Given the description of an element on the screen output the (x, y) to click on. 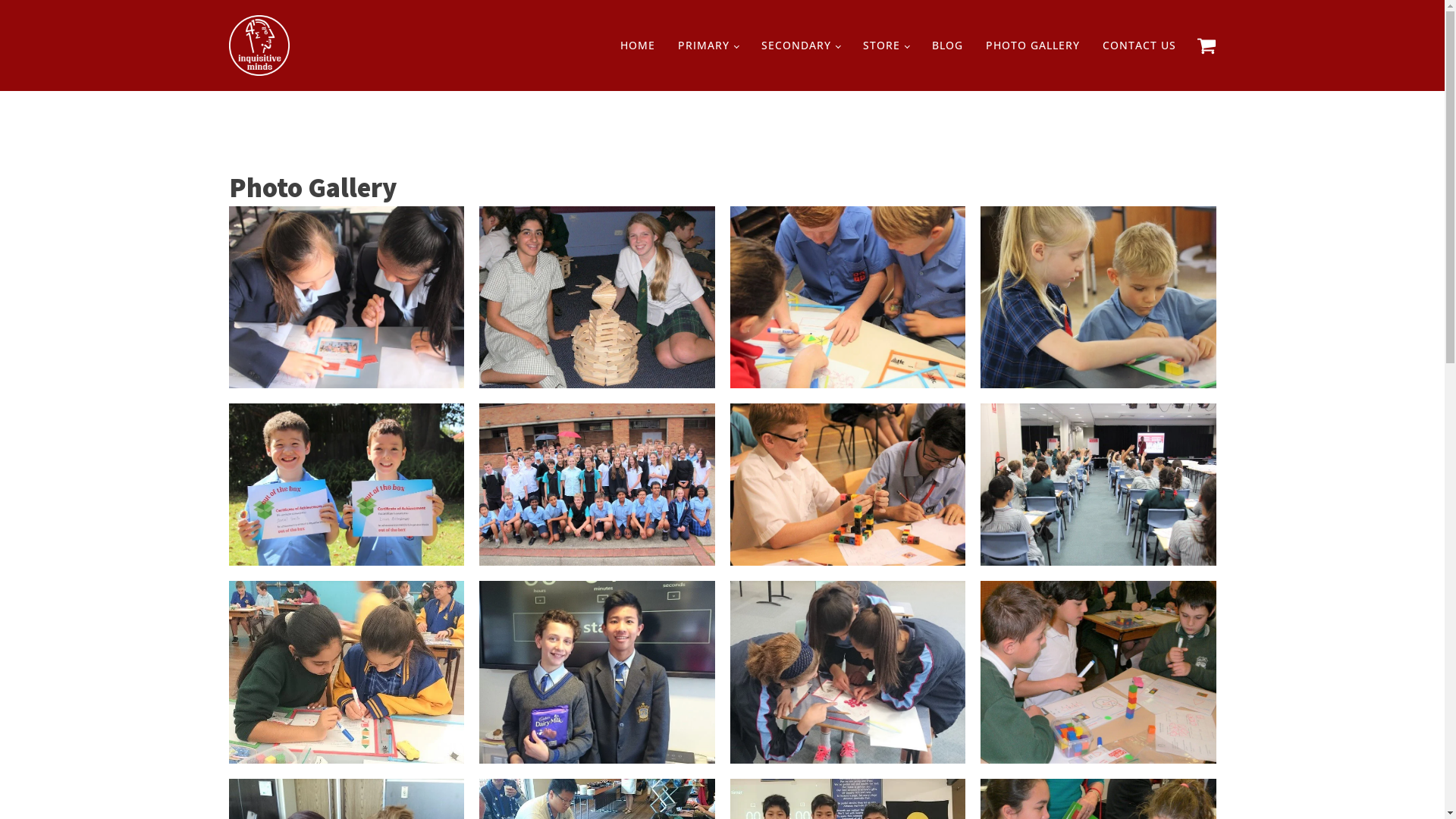
PHOTO GALLERY Element type: text (1031, 45)
PRIMARY Element type: text (707, 45)
CONTACT US Element type: text (1138, 45)
BLOG Element type: text (947, 45)
HOME Element type: text (637, 45)
SECONDARY Element type: text (800, 45)
STORE Element type: text (885, 45)
